Given the description of an element on the screen output the (x, y) to click on. 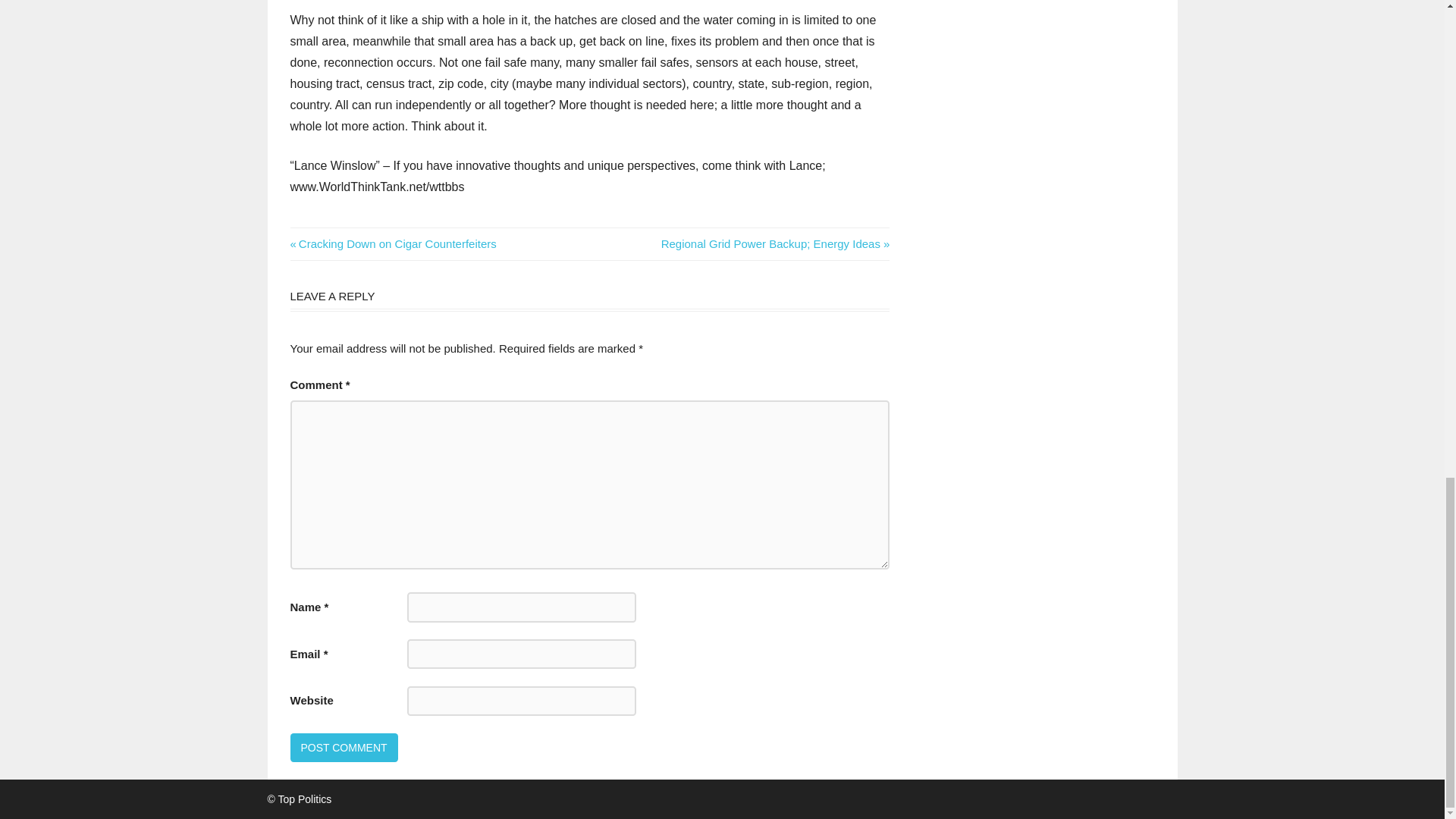
Post Comment (392, 243)
Post Comment (775, 243)
